Given the description of an element on the screen output the (x, y) to click on. 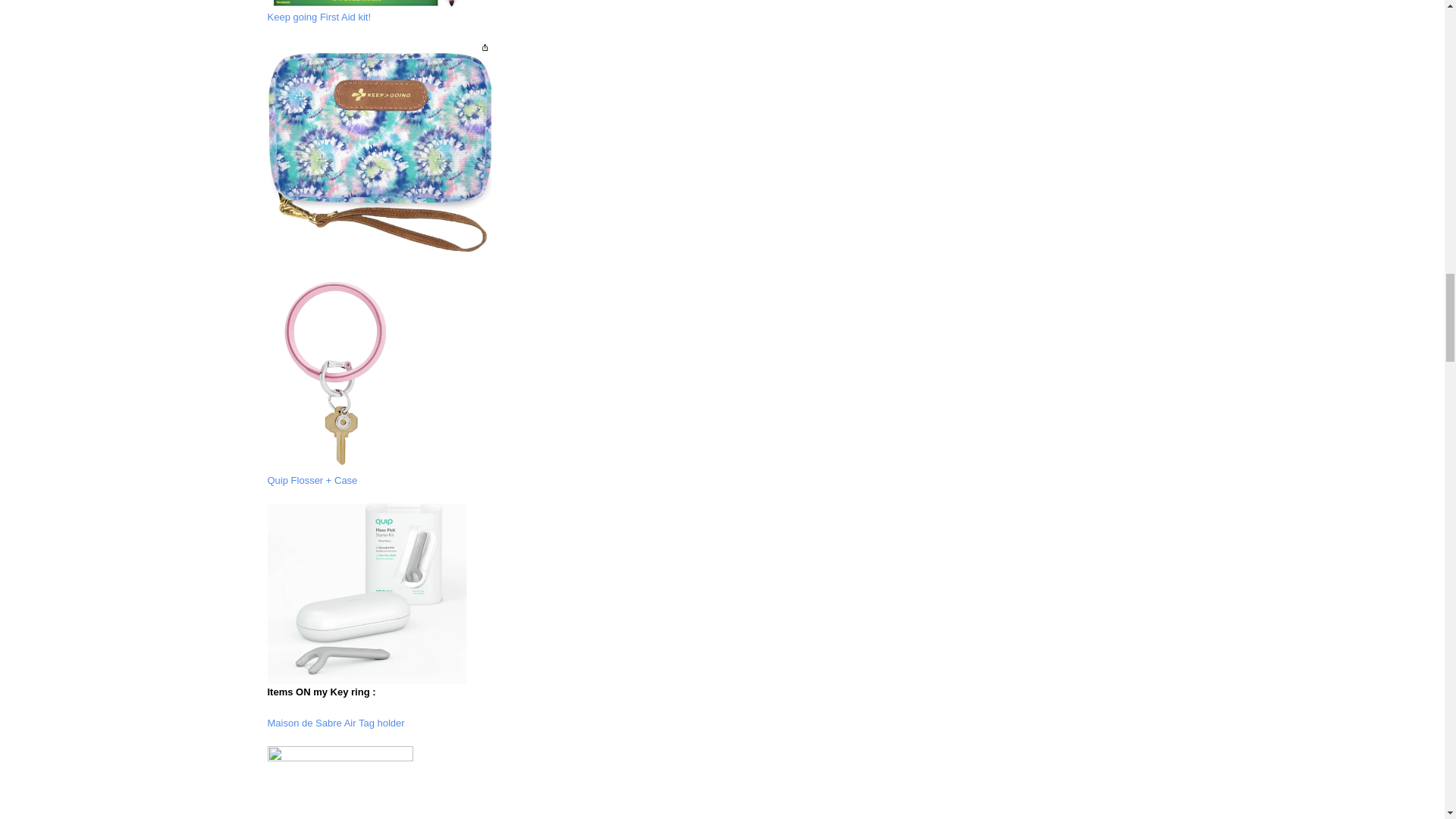
Maison de Sabre Air Tag holder (335, 722)
Keep going First Aid kit! (318, 16)
